Given the description of an element on the screen output the (x, y) to click on. 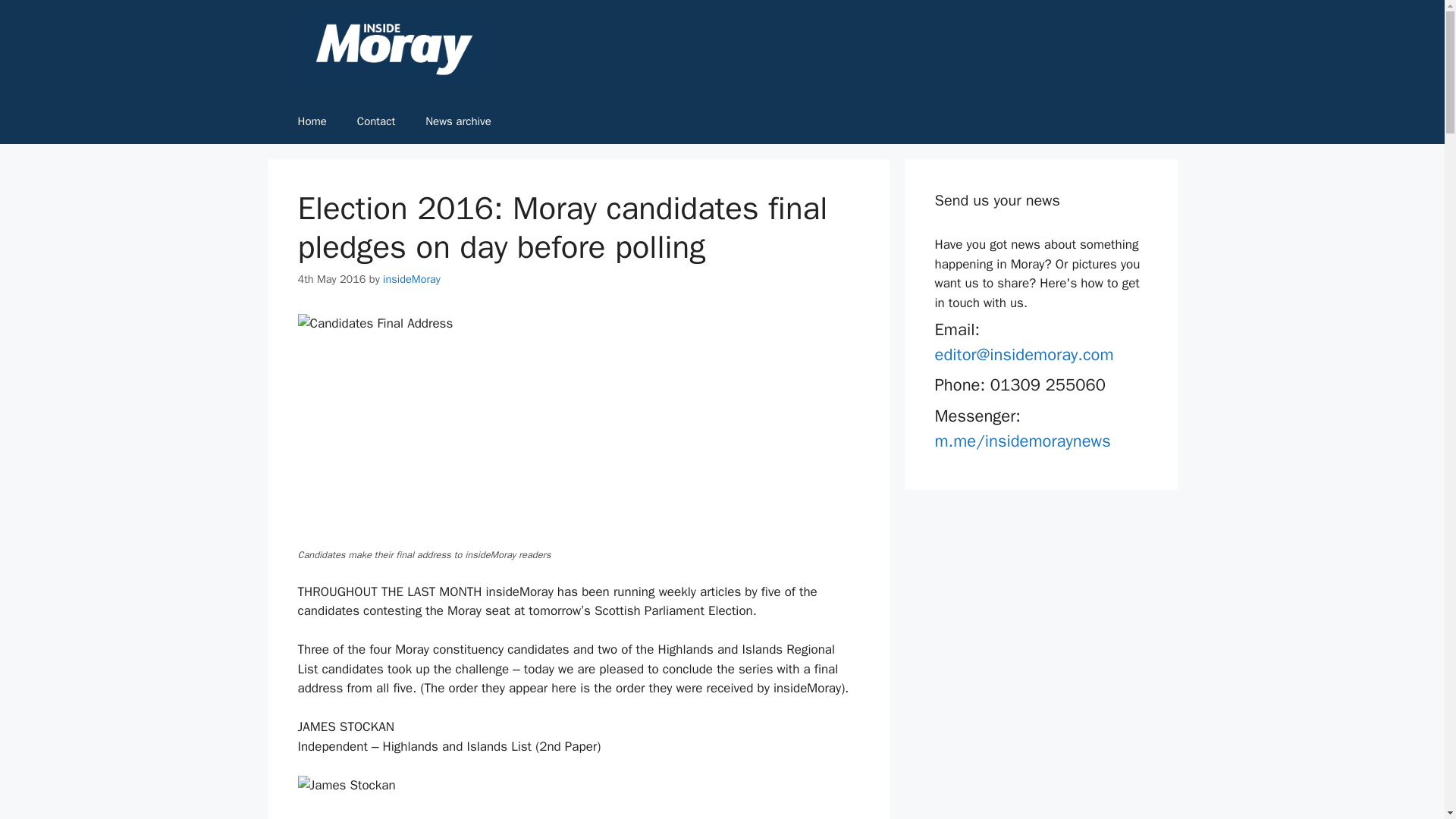
insideMoray (411, 278)
News archive (458, 121)
Contact (376, 121)
Home (311, 121)
View all posts by insideMoray (411, 278)
